Given the description of an element on the screen output the (x, y) to click on. 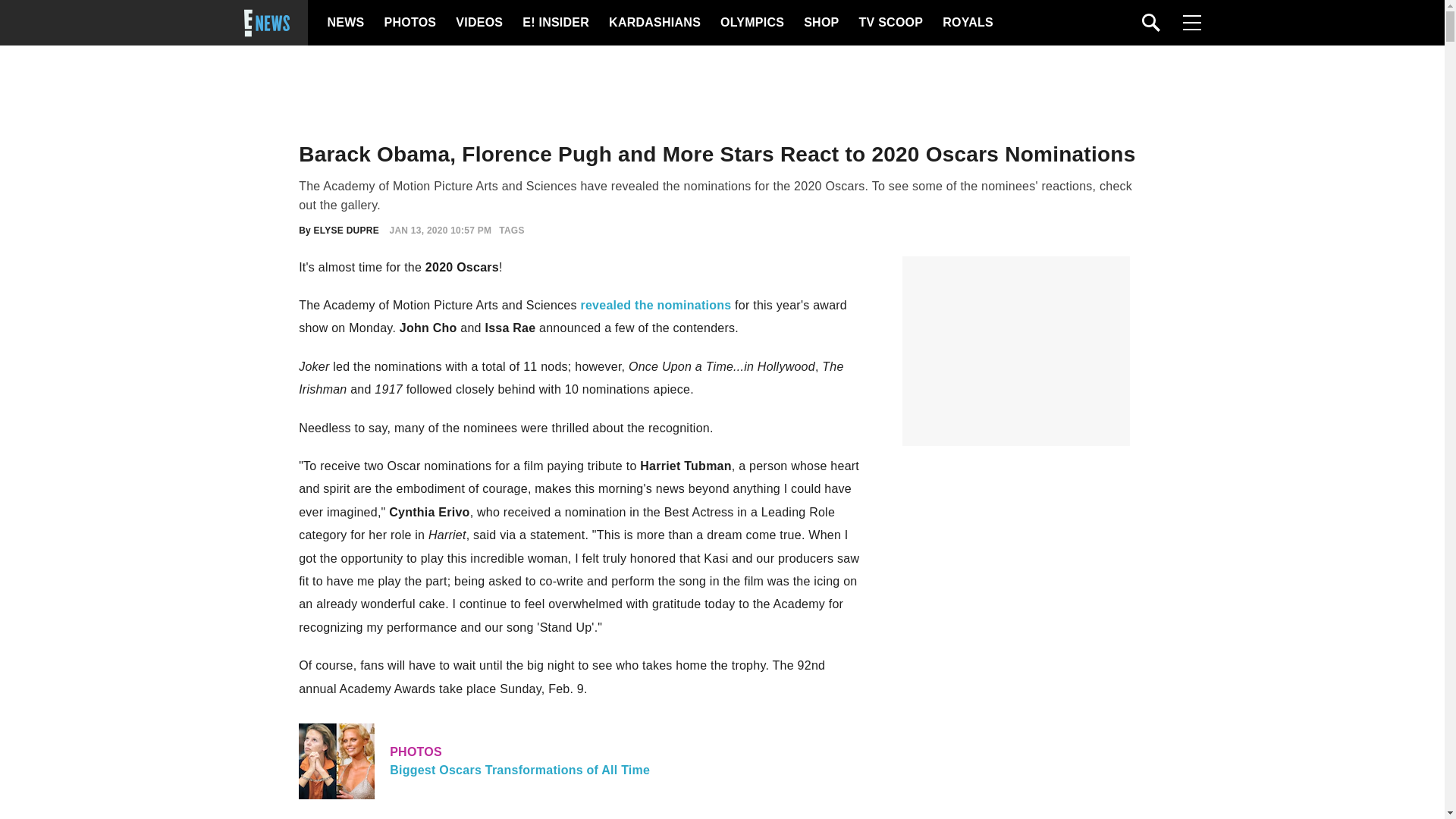
KARDASHIANS (653, 22)
NEWS (345, 22)
E! INSIDER (555, 22)
PHOTOS (581, 761)
SHOP (408, 22)
TV SCOOP (820, 22)
ROYALS (890, 22)
ELYSE DUPRE (966, 22)
OLYMPICS (346, 230)
VIDEOS (751, 22)
revealed the nominations (478, 22)
